Given the description of an element on the screen output the (x, y) to click on. 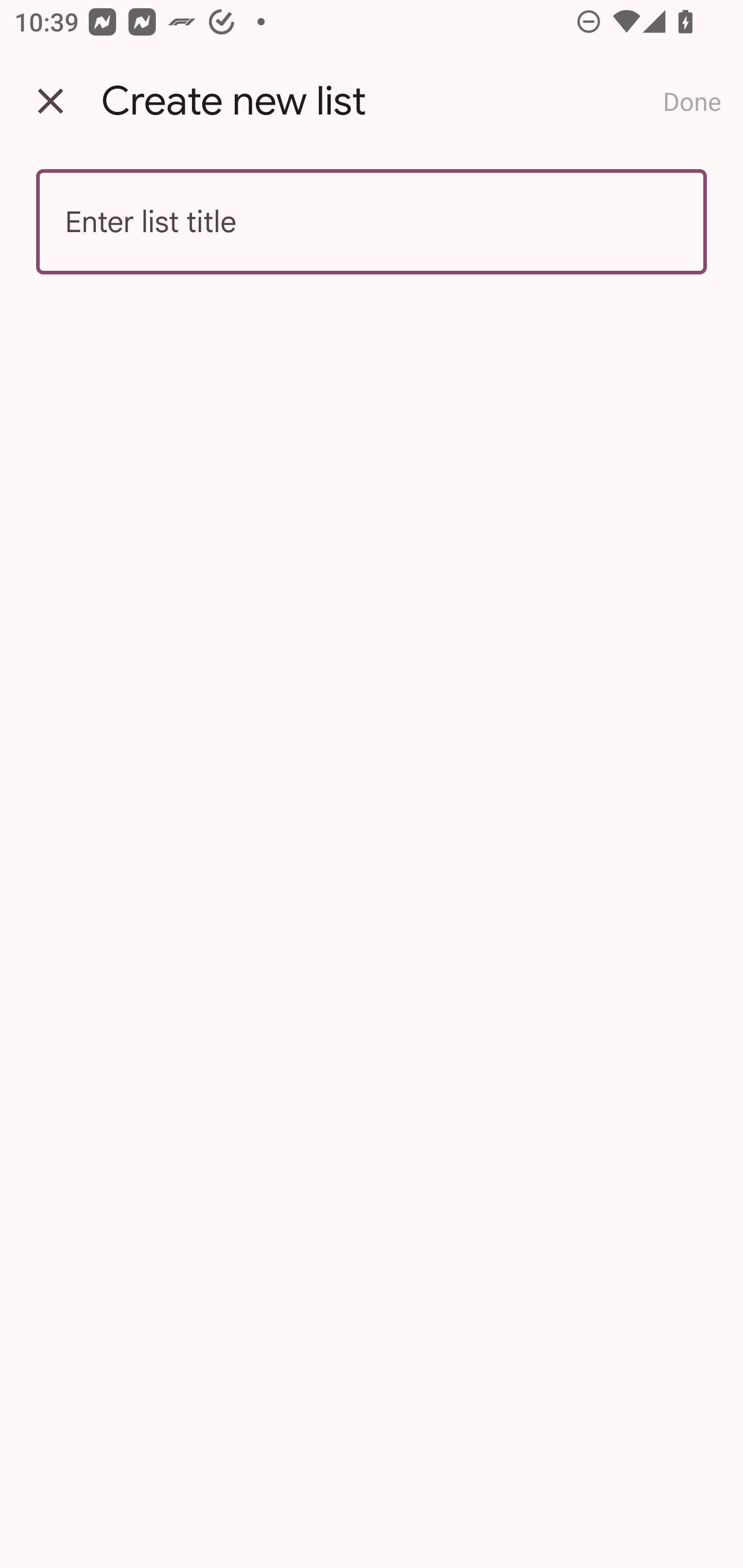
Back (50, 101)
Done (692, 101)
Enter list title (371, 221)
